Given the description of an element on the screen output the (x, y) to click on. 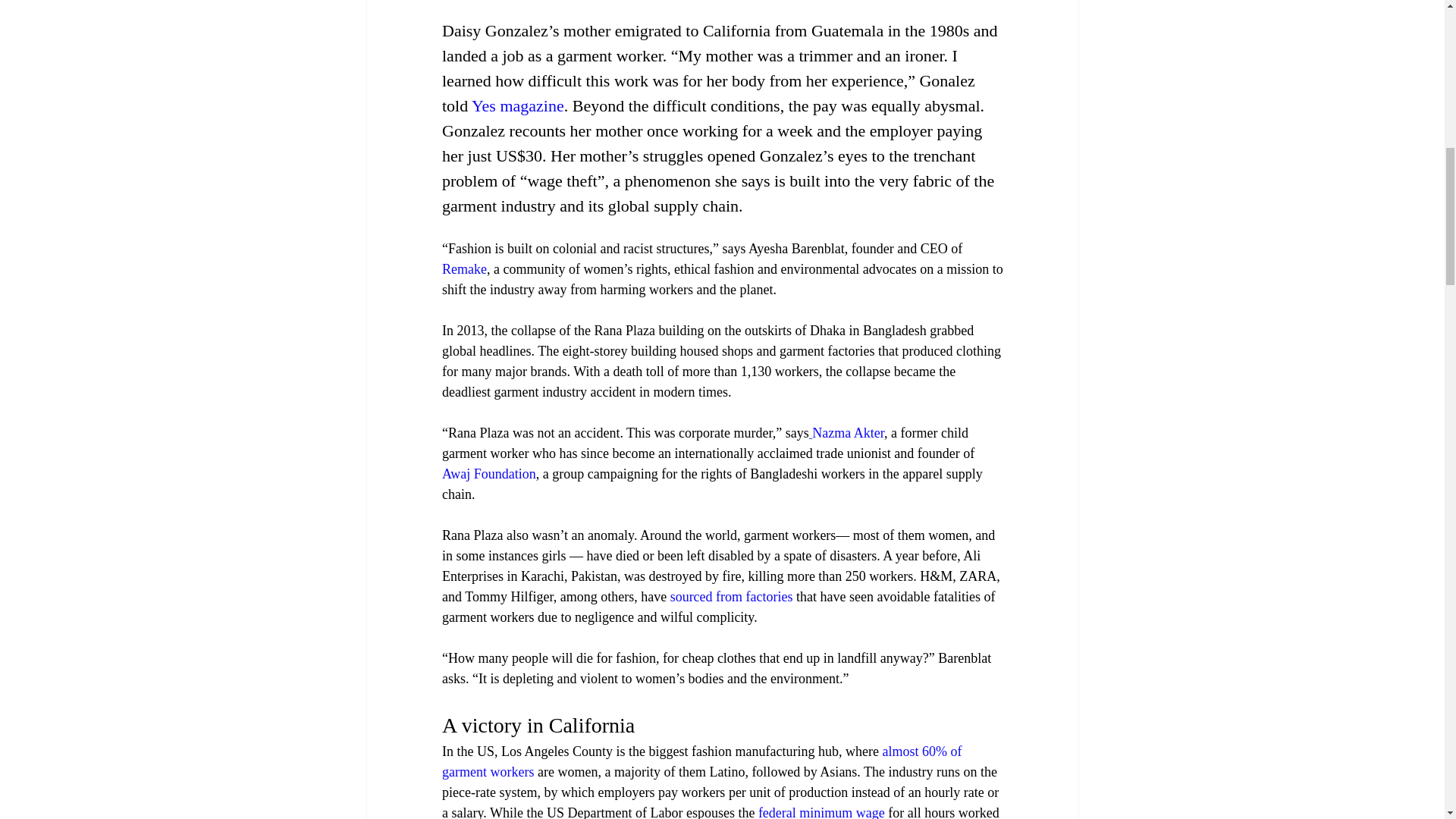
Awaj Foundation (488, 473)
Nazma Akter (847, 432)
Yes magazine (516, 105)
Remake (463, 268)
sourced from factories (730, 596)
federal minimum wage (820, 812)
